Given the description of an element on the screen output the (x, y) to click on. 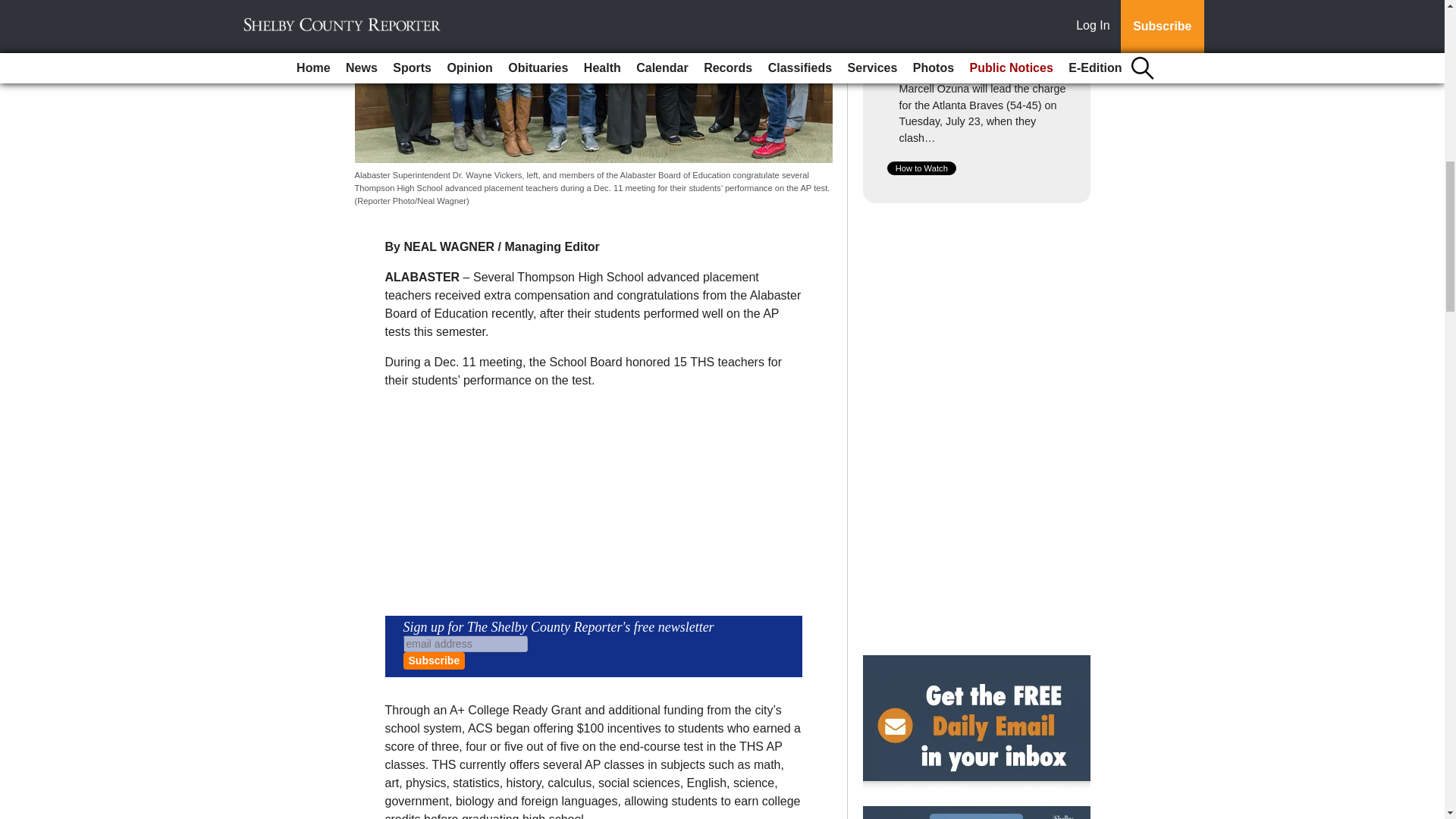
Subscribe (434, 660)
